Given the description of an element on the screen output the (x, y) to click on. 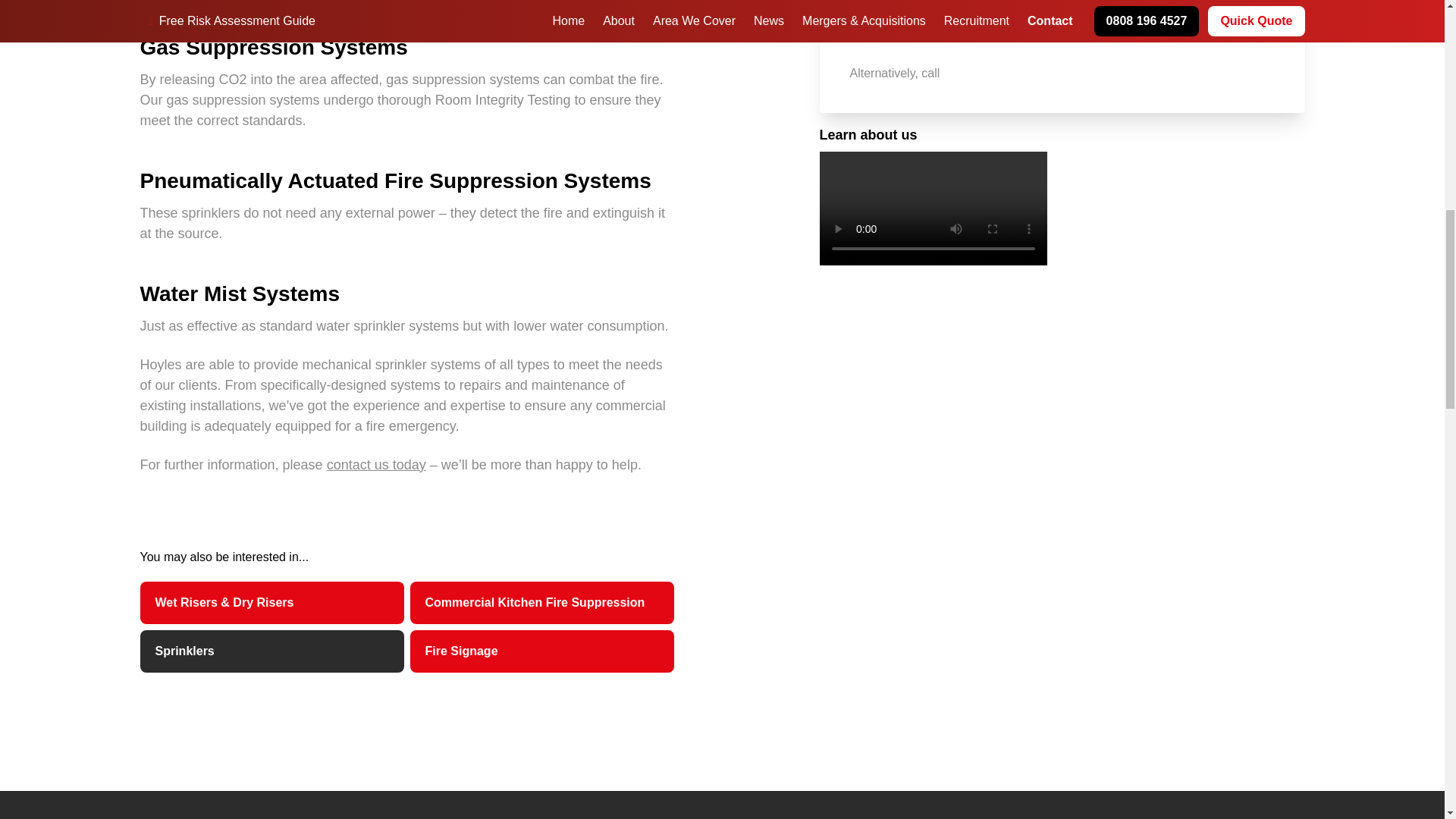
contact us today (376, 463)
